Given the description of an element on the screen output the (x, y) to click on. 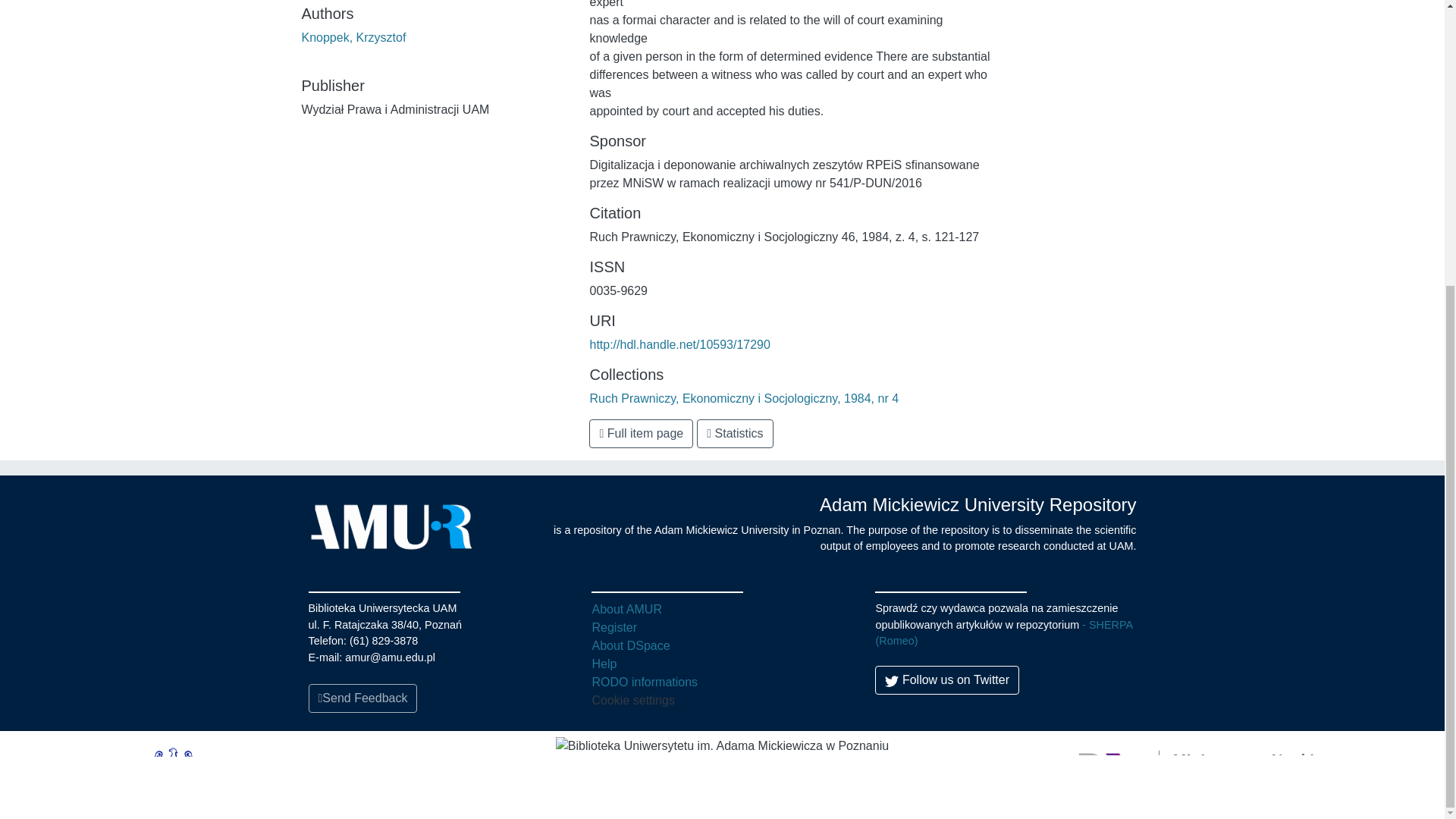
Full item page (641, 433)
Knoppek, Krzysztof (353, 37)
Statistics (735, 433)
About AMUR (626, 608)
Ruch Prawniczy, Ekonomiczny i Socjologiczny, 1984, nr 4 (743, 398)
Send Feedback (361, 697)
